Given the description of an element on the screen output the (x, y) to click on. 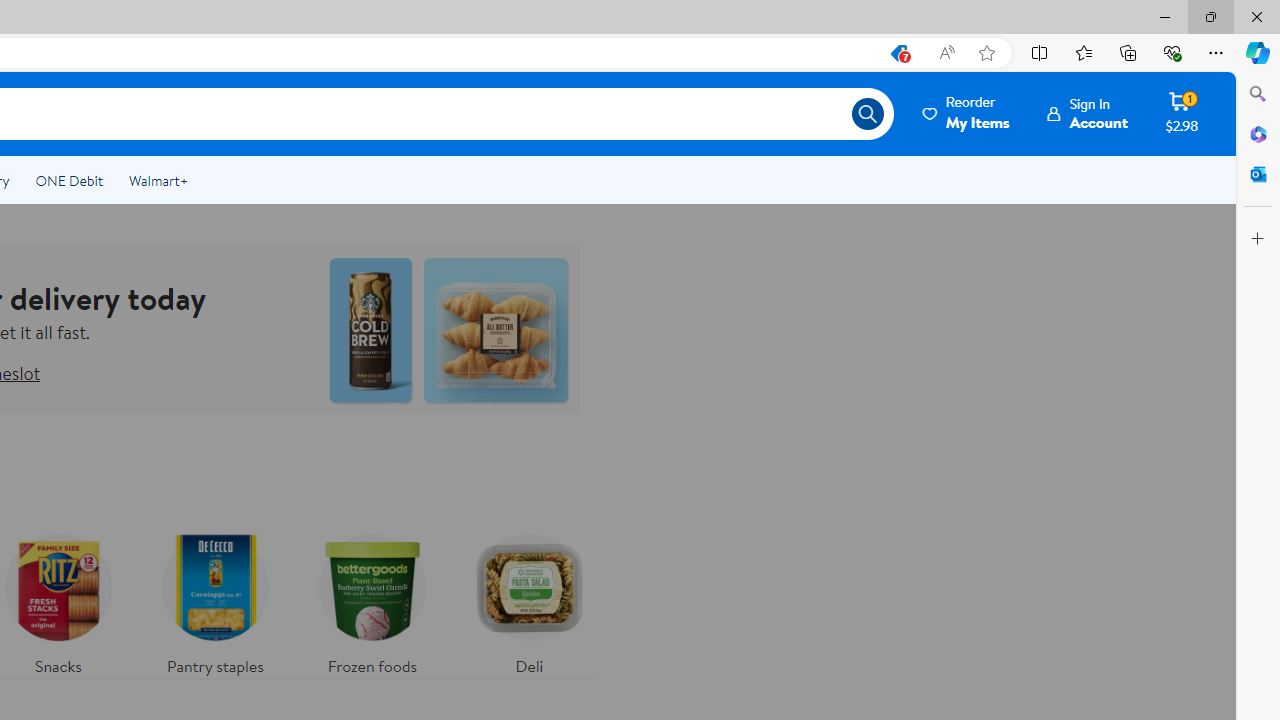
Frozen foods (371, 599)
Search icon (867, 113)
Deli (529, 599)
Sign InAccount (1088, 113)
Walmart+ (158, 180)
Cart contains 1 item Total Amount $2.98 (1182, 113)
ONE Debit (68, 180)
Frozen foods (371, 599)
